Given the description of an element on the screen output the (x, y) to click on. 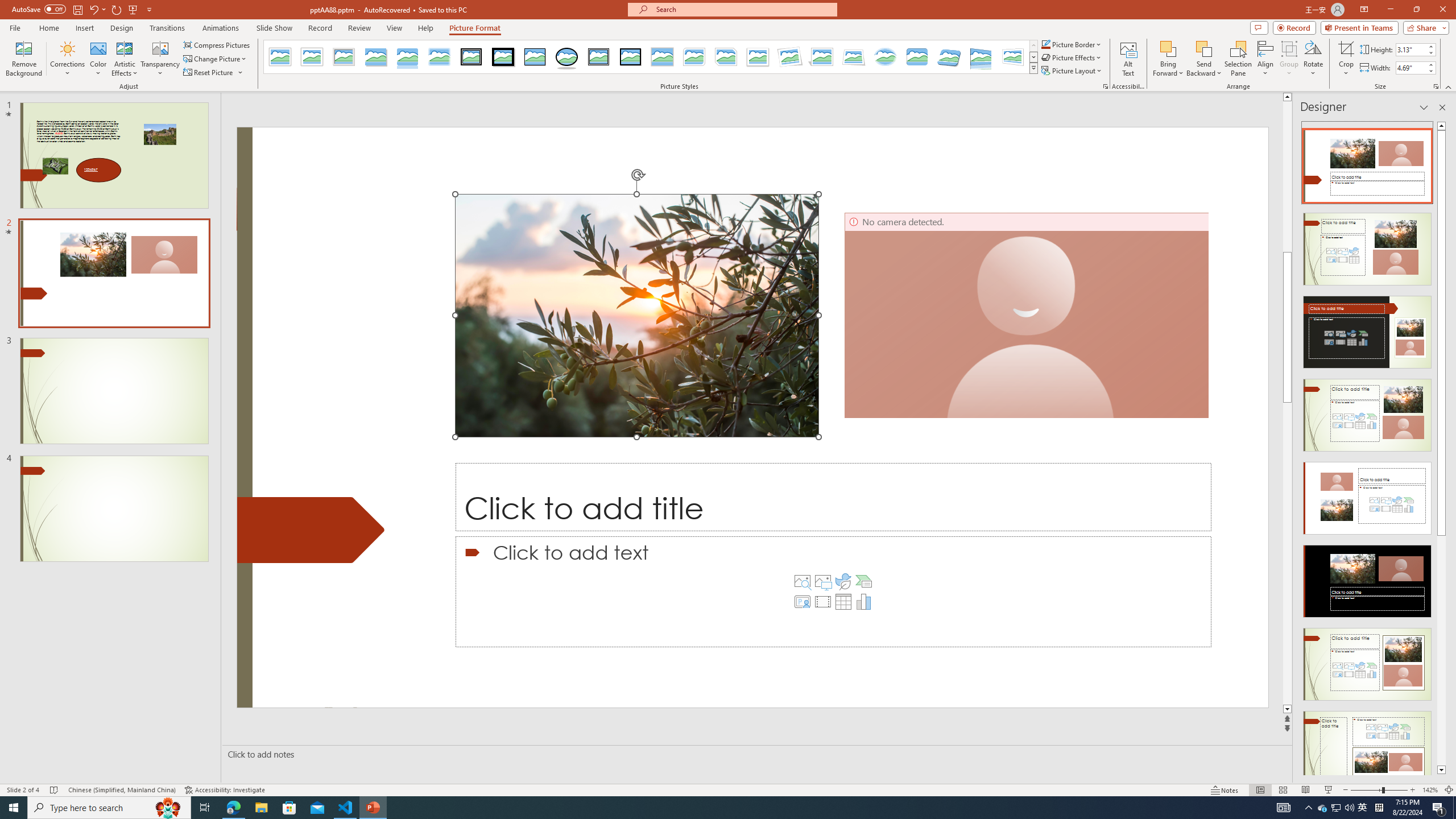
Rotate (1312, 58)
Center Shadow Rectangle (662, 56)
Reflected Rounded Rectangle (407, 56)
